Given the description of an element on the screen output the (x, y) to click on. 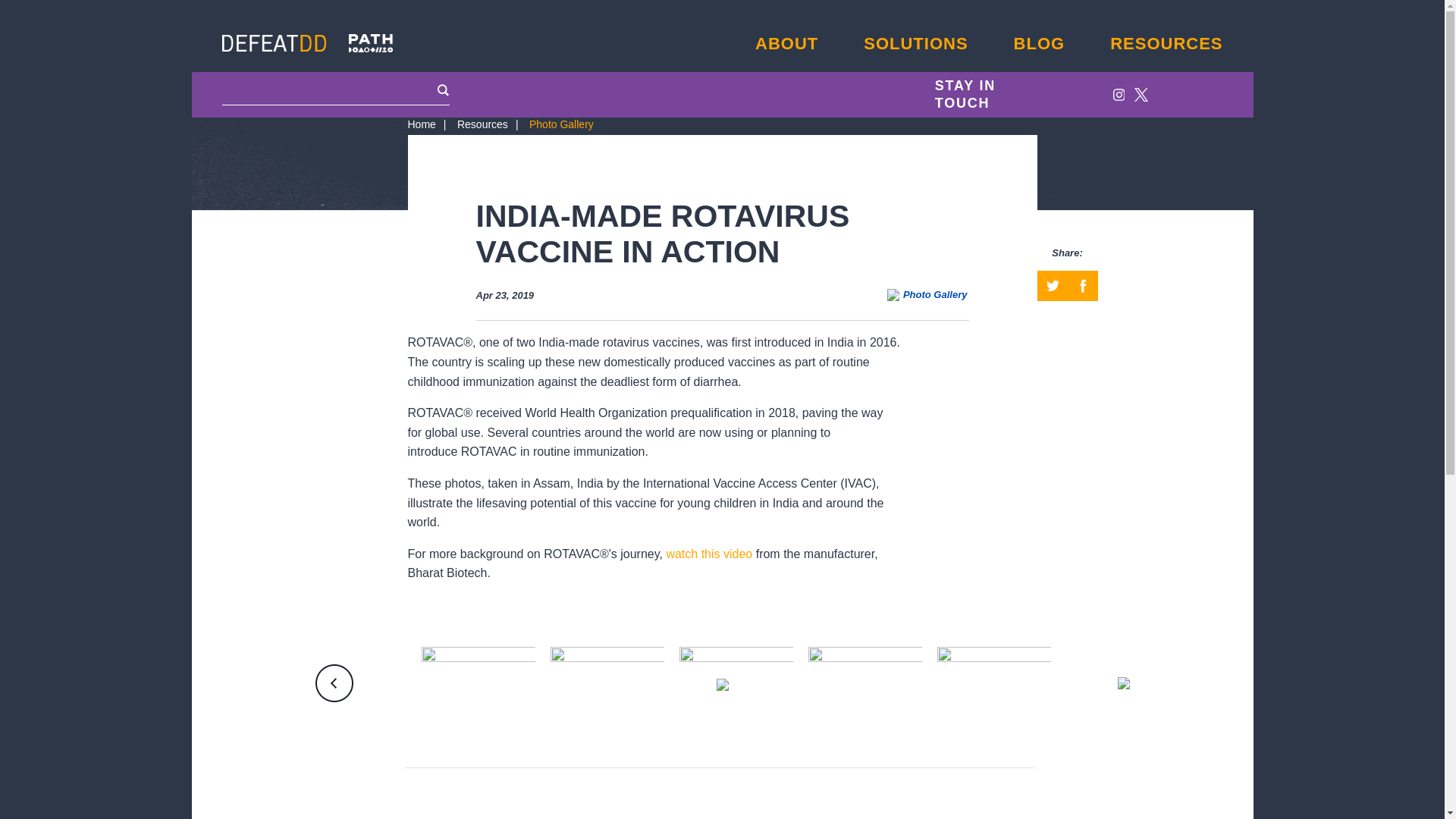
Enter the terms you wish to search for. (336, 90)
Photo Gallery (561, 123)
STAY IN TOUCH (991, 93)
ABOUT (786, 43)
BLOG (1039, 43)
Home (430, 123)
Resources (491, 123)
SOLUTIONS (915, 43)
watch this video (708, 553)
